Given the description of an element on the screen output the (x, y) to click on. 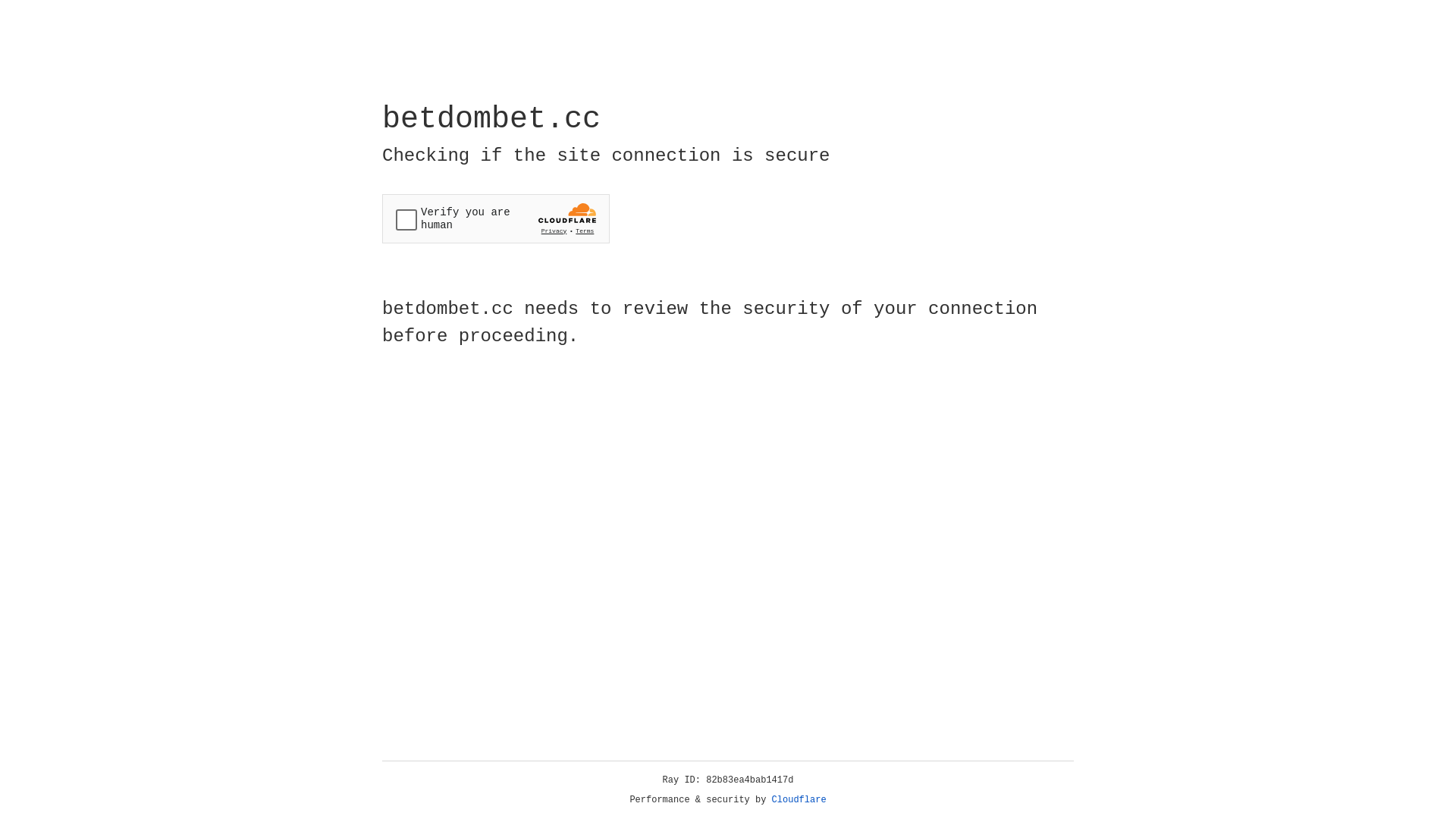
Cloudflare Element type: text (798, 799)
Widget containing a Cloudflare security challenge Element type: hover (495, 218)
